Given the description of an element on the screen output the (x, y) to click on. 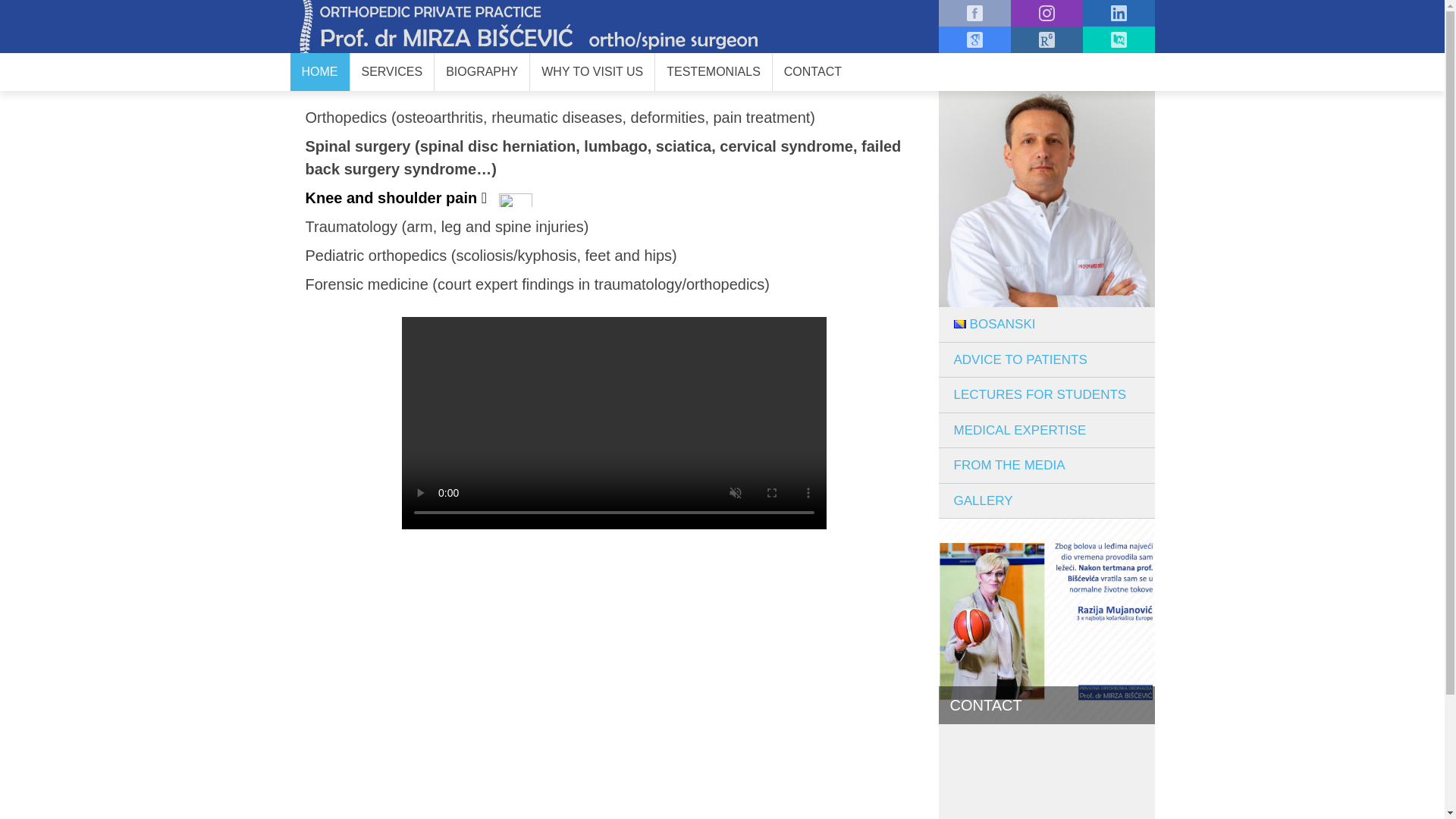
BIOGRAPHY Element type: text (481, 72)
CONTACT Element type: text (812, 72)
ADVICE TO PATIENTS Element type: text (1046, 359)
LECTURES FOR STUDENTS Element type: text (1046, 394)
WHY TO VISIT US Element type: text (592, 72)
BOSANSKI Element type: text (1046, 324)
TESTEMONIALS Element type: text (713, 72)
SERVICES Element type: text (392, 72)
HOME Element type: text (318, 72)
FROM THE MEDIA Element type: text (1046, 465)
MEDICAL EXPERTISE Element type: text (1046, 429)
GALLERY Element type: text (1046, 500)
